Given the description of an element on the screen output the (x, y) to click on. 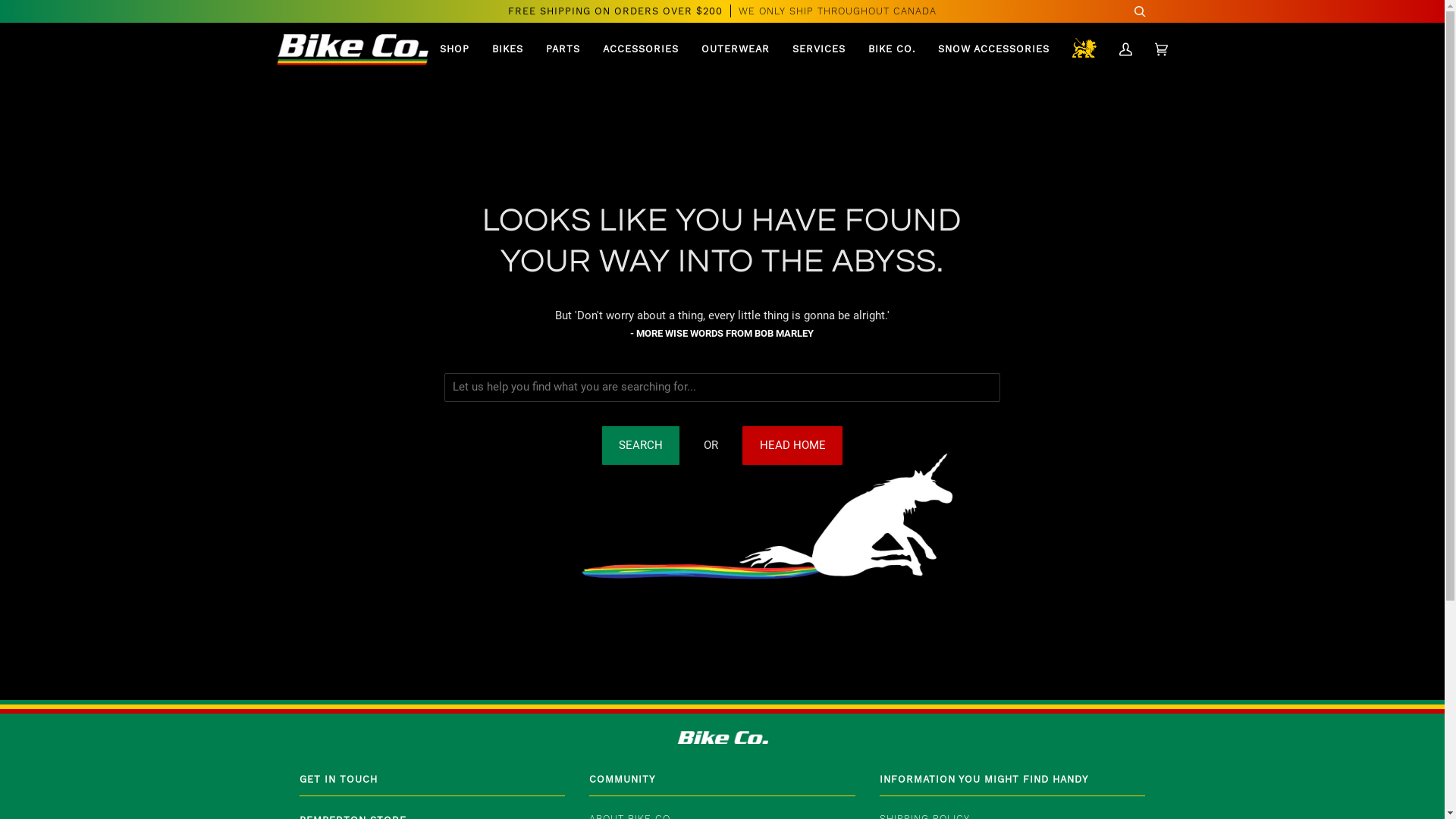
SERVICES Element type: text (818, 49)
Cart
(0) Element type: text (1161, 49)
SHOP Element type: text (454, 49)
BIKES Element type: text (507, 49)
Search Element type: text (641, 445)
BIKE CO. Element type: text (891, 49)
ACCESSORIES Element type: text (640, 49)
SNOW ACCESSORIES Element type: text (993, 49)
HEAD HOME Element type: text (792, 445)
My Account Element type: text (1125, 49)
OUTERWEAR Element type: text (735, 49)
PARTS Element type: text (562, 49)
